Given the description of an element on the screen output the (x, y) to click on. 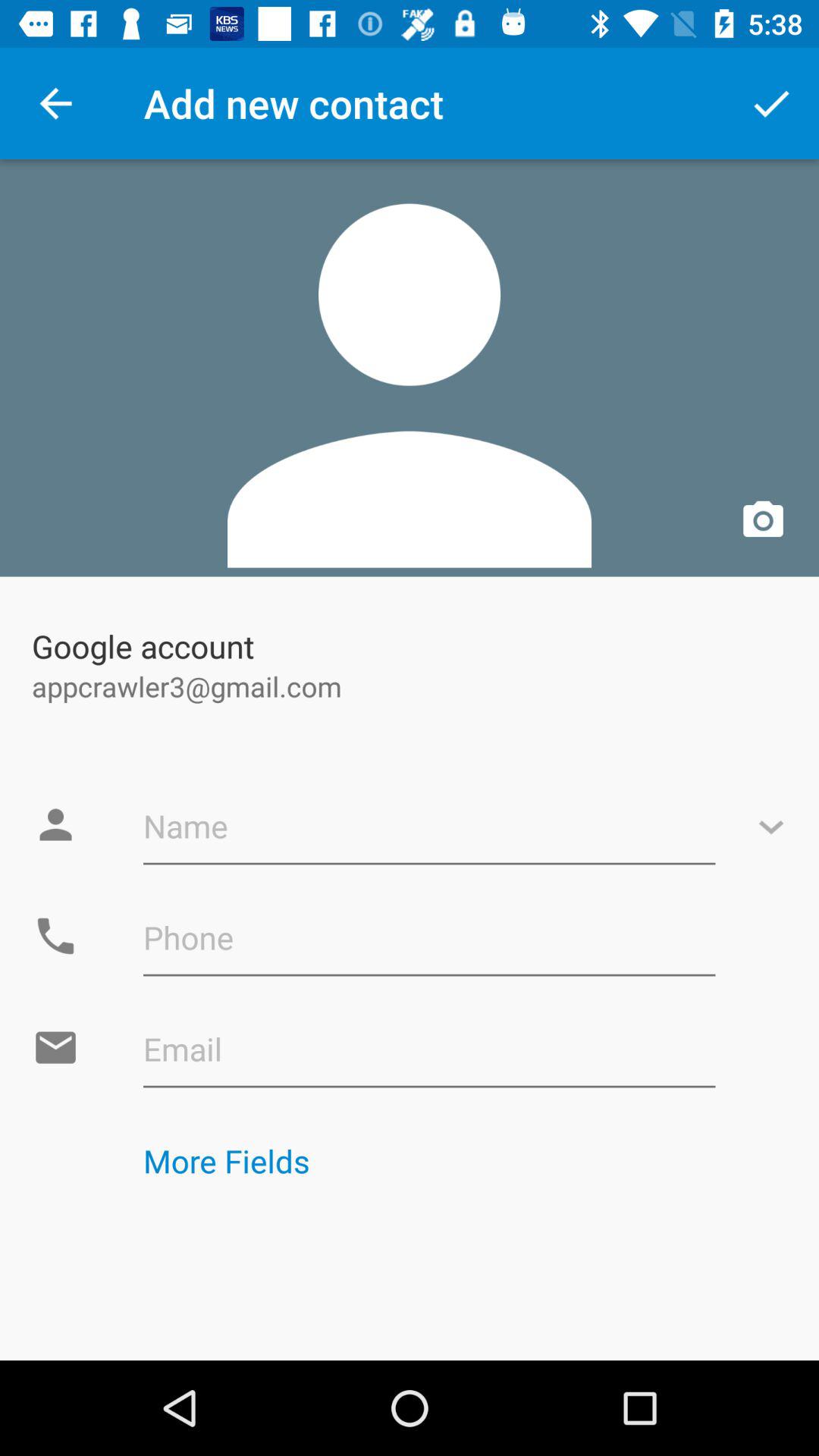
select icon at the top right corner (771, 103)
